Given the description of an element on the screen output the (x, y) to click on. 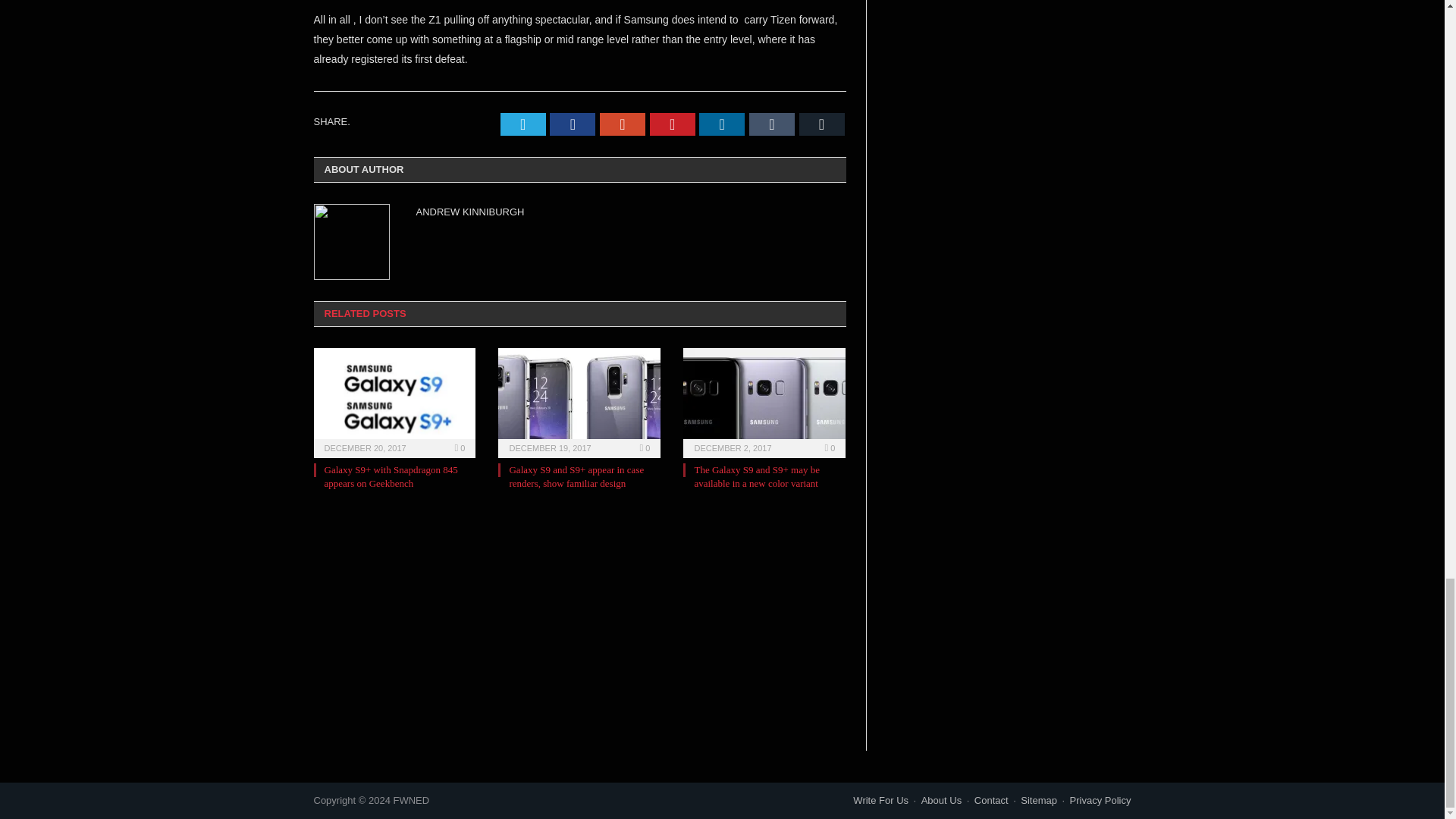
Facebook (572, 124)
Twitter (523, 124)
